Given the description of an element on the screen output the (x, y) to click on. 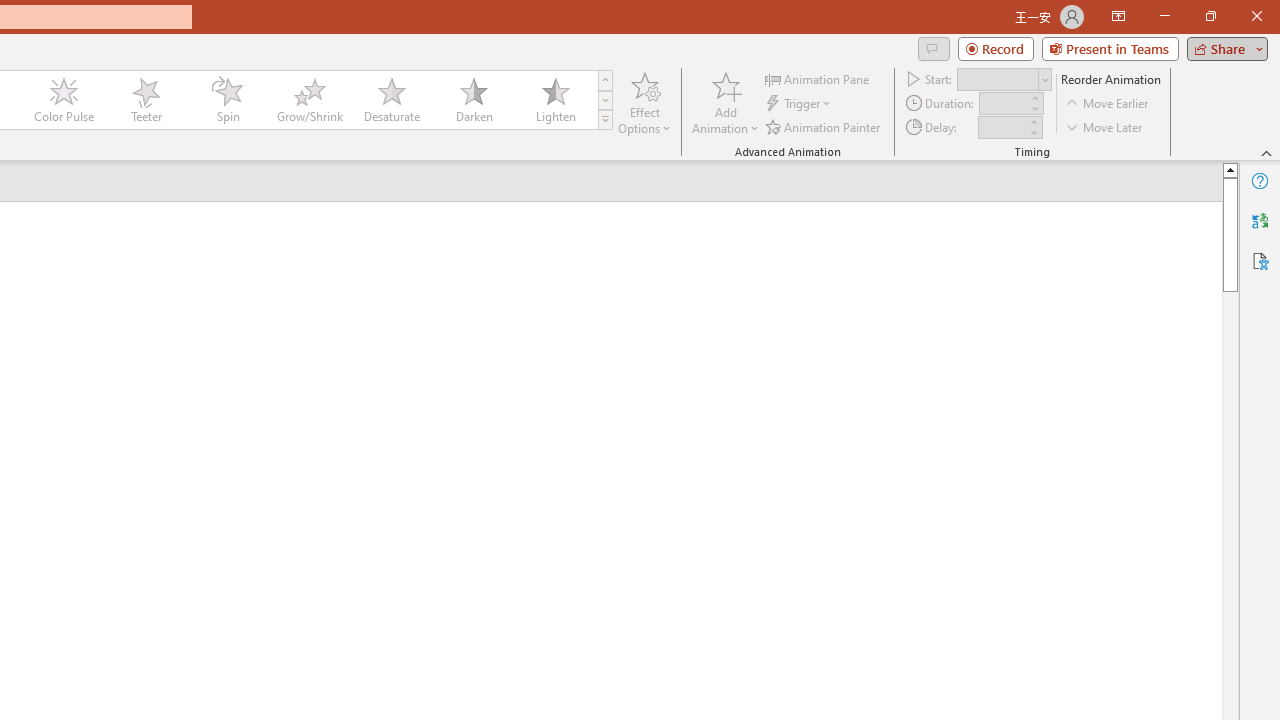
Animation Duration (1003, 103)
Add Animation (725, 102)
Animation Pane (818, 78)
Color Pulse (63, 100)
Row up (605, 79)
Spin (227, 100)
Lighten (555, 100)
Darken (473, 100)
Teeter (145, 100)
